Given the description of an element on the screen output the (x, y) to click on. 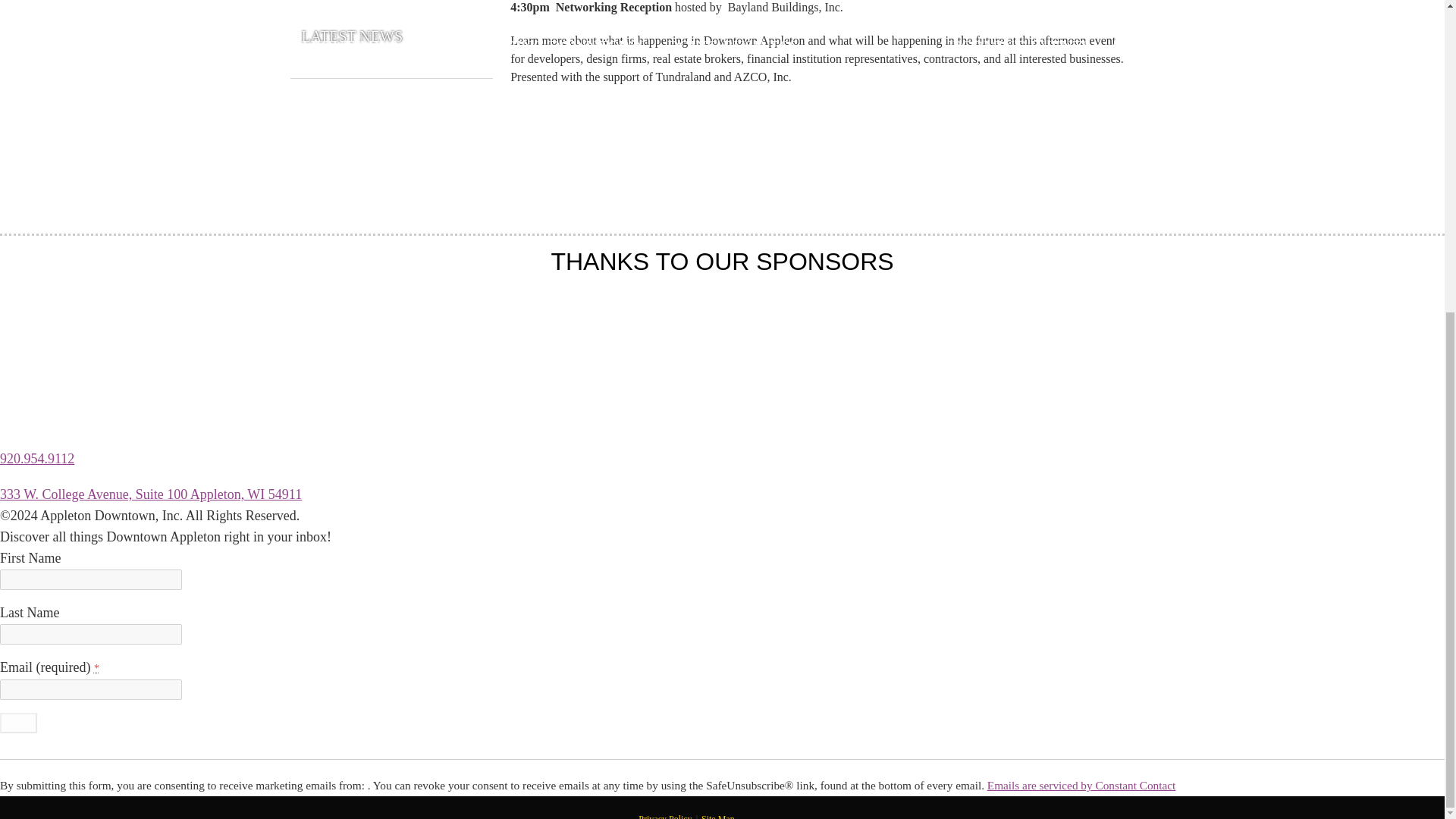
GO! (18, 722)
